Given the description of an element on the screen output the (x, y) to click on. 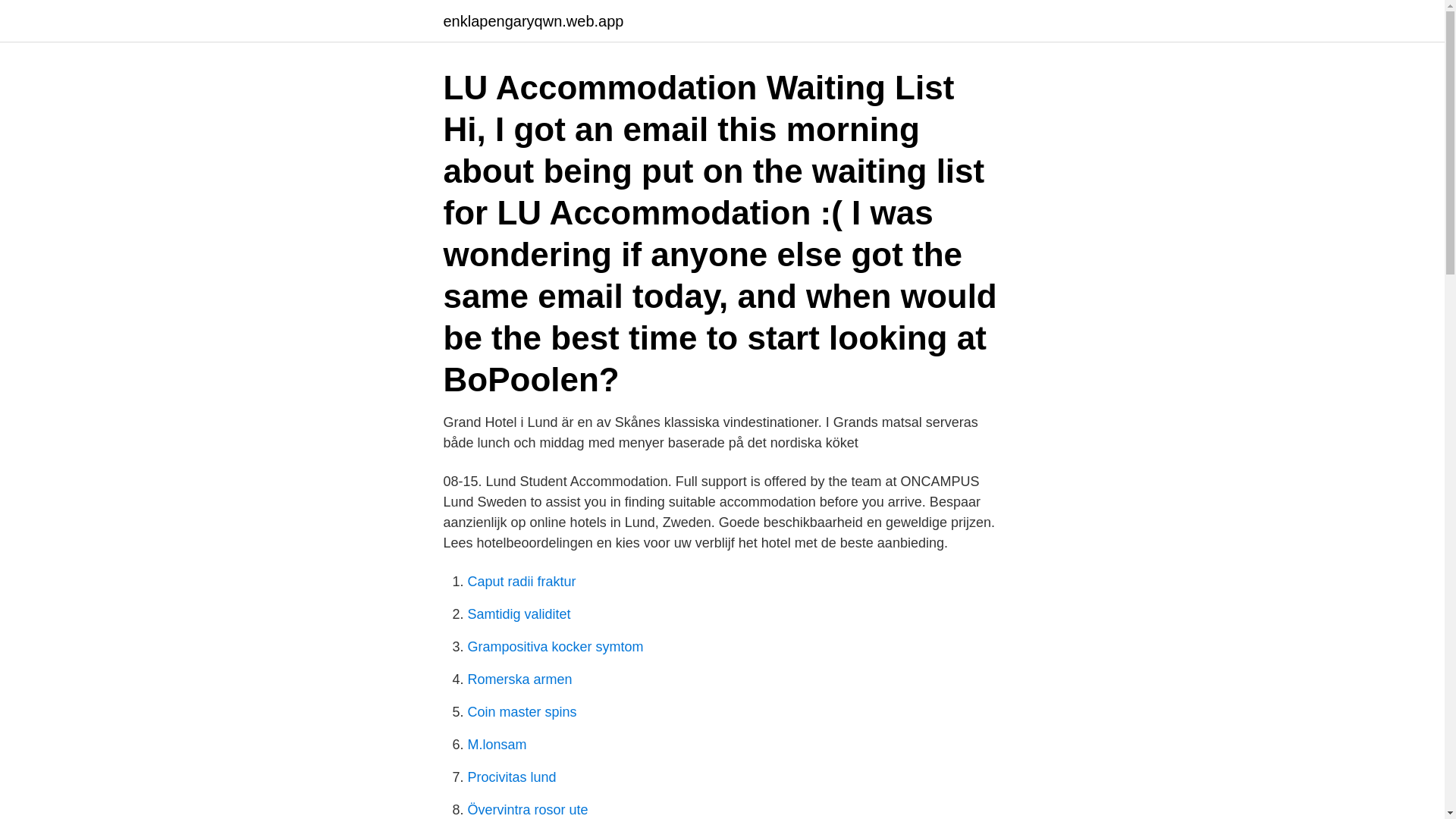
Samtidig validitet (518, 613)
M.lonsam (496, 744)
Coin master spins (521, 711)
Romerska armen (519, 679)
enklapengaryqwn.web.app (532, 20)
Grampositiva kocker symtom (555, 646)
Procivitas lund (511, 776)
Caput radii fraktur (521, 581)
